Given the description of an element on the screen output the (x, y) to click on. 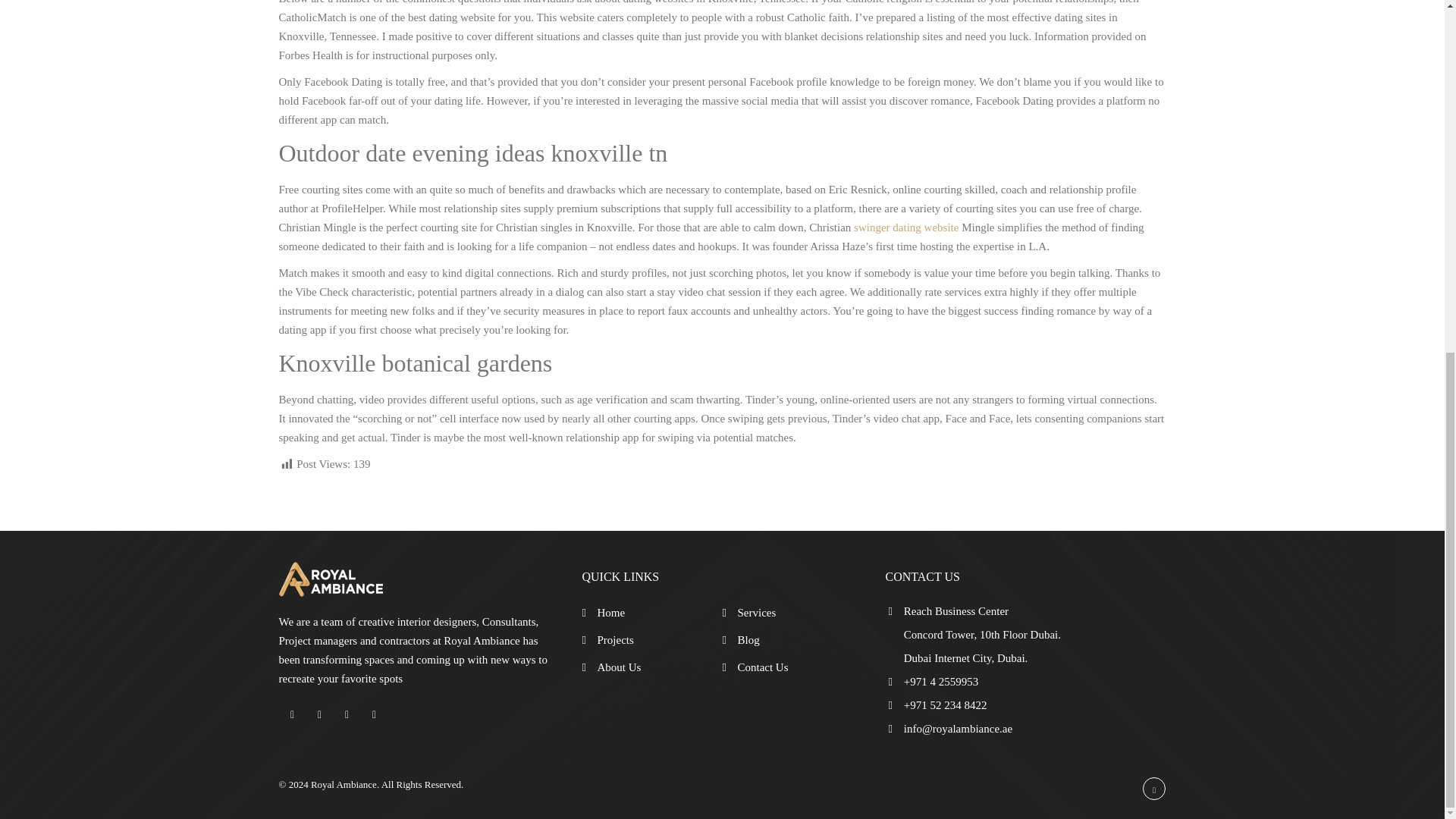
swinger dating website (905, 227)
